Given the description of an element on the screen output the (x, y) to click on. 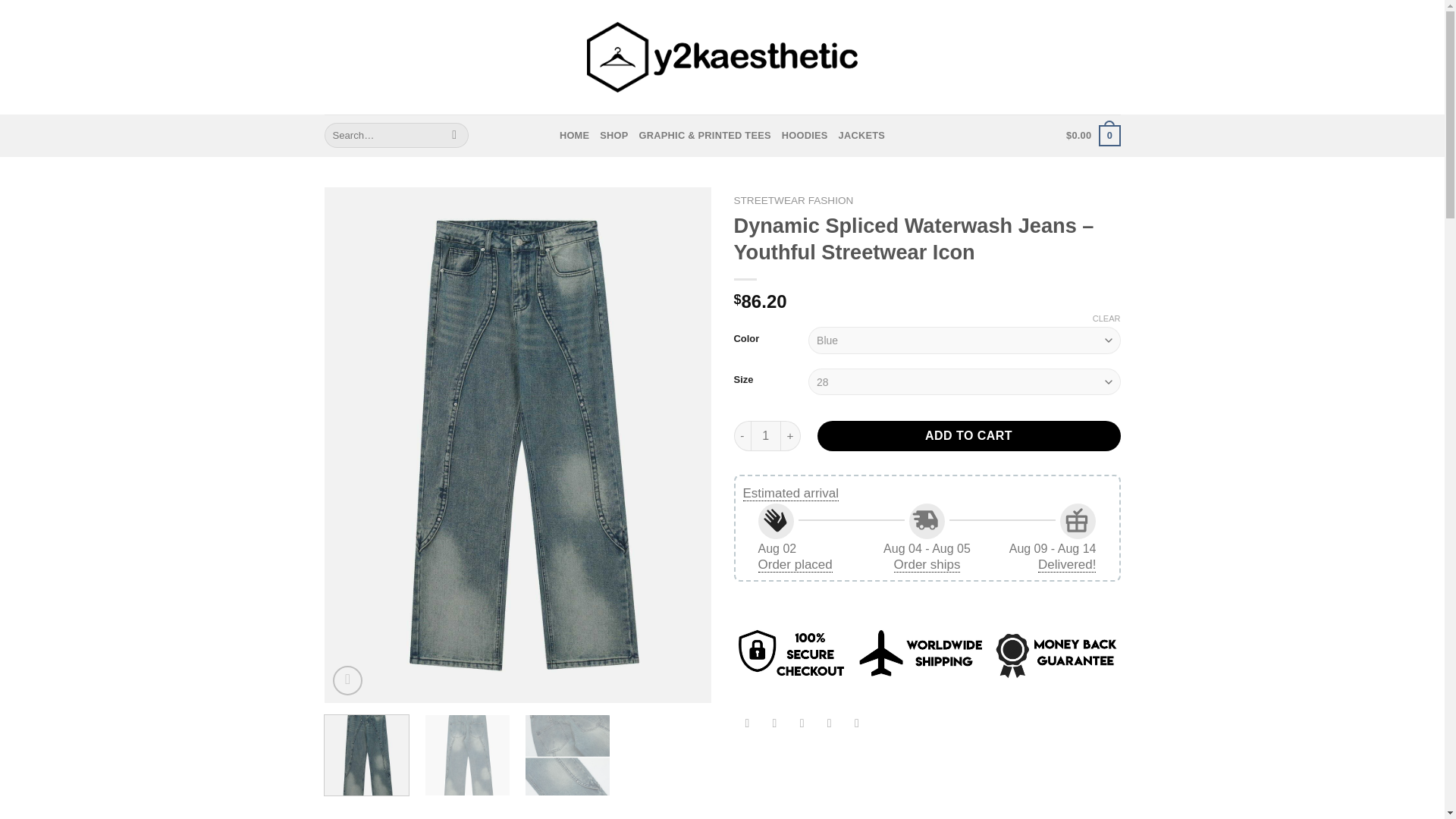
Qty (765, 435)
HOME (574, 135)
Share on Twitter (774, 724)
ADD TO CART (968, 435)
CLEAR (1107, 317)
STREETWEAR FASHION (793, 200)
SHOP (613, 135)
Zoom (347, 680)
Search (454, 135)
y2kaesthetic.com (721, 57)
